Given the description of an element on the screen output the (x, y) to click on. 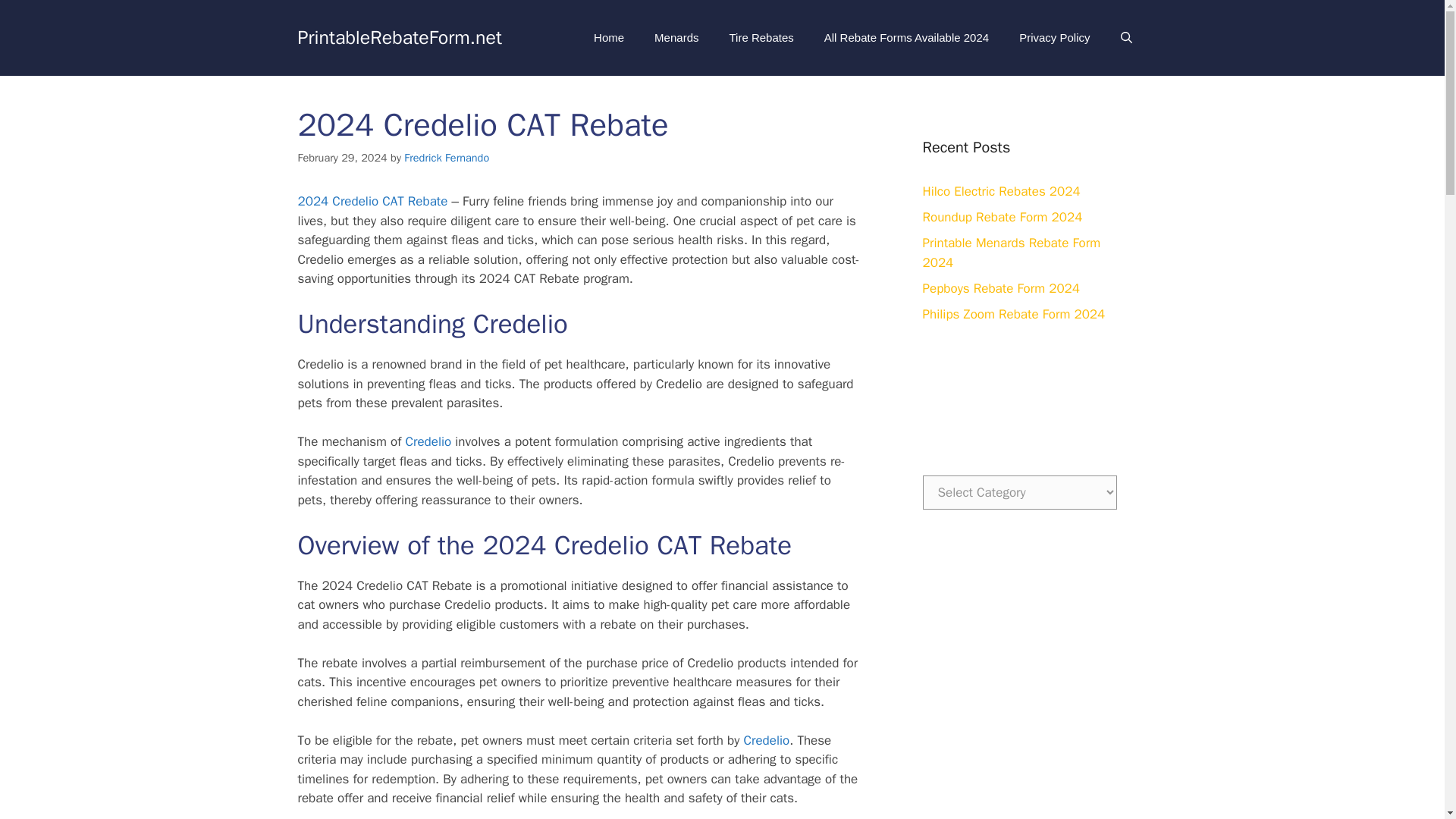
All Rebate Forms Available 2024 (906, 37)
Roundup Rebate Form 2024 (1001, 217)
PrintableRebateForm.net (399, 37)
Credelio (765, 740)
Home (608, 37)
Privacy Policy (1054, 37)
View all posts by Fredrick Fernando (446, 157)
Fredrick Fernando (446, 157)
2024 Credelio CAT Rebate (371, 201)
Tire Rebates (760, 37)
Menards (676, 37)
Credelio (427, 441)
Printable Menards Rebate Form 2024 (1010, 253)
Hilco Electric Rebates 2024 (1000, 191)
